Given the description of an element on the screen output the (x, y) to click on. 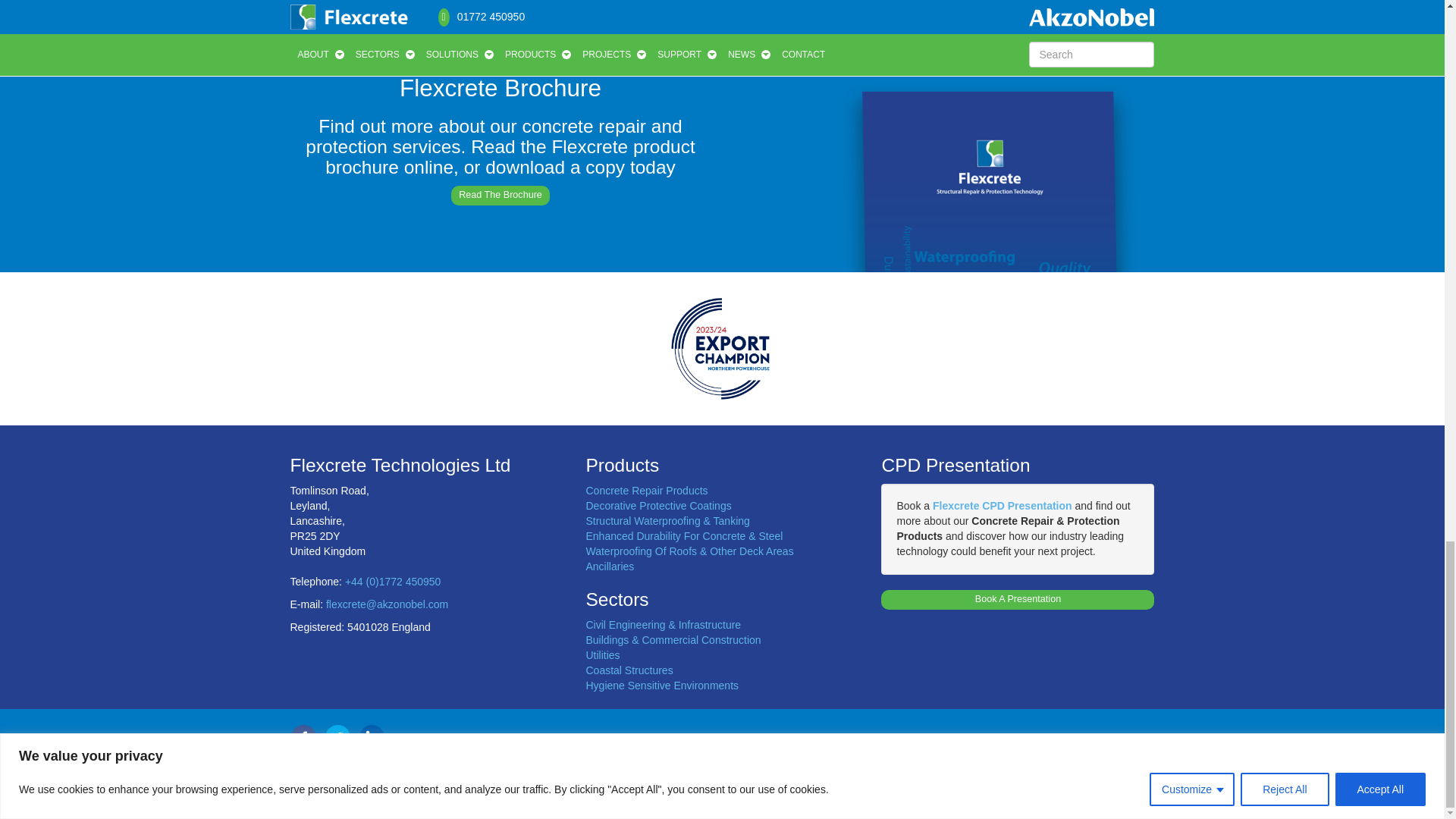
Website Management Services (403, 795)
Linkedin (371, 737)
Facebook (302, 737)
Twitter (337, 737)
